Given the description of an element on the screen output the (x, y) to click on. 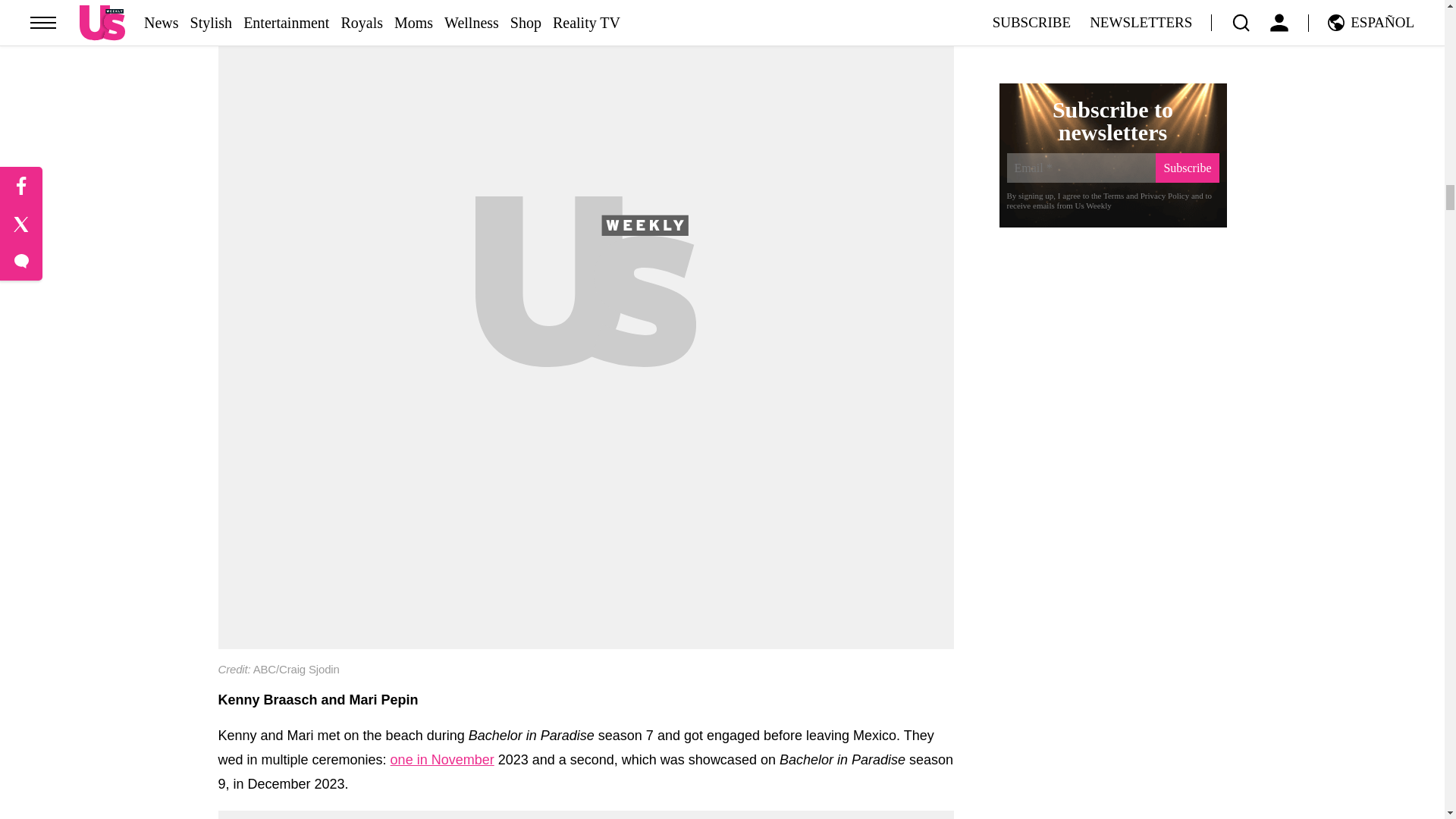
Dean Unglert and Caelynn Miller-Keyes (585, 740)
